Given the description of an element on the screen output the (x, y) to click on. 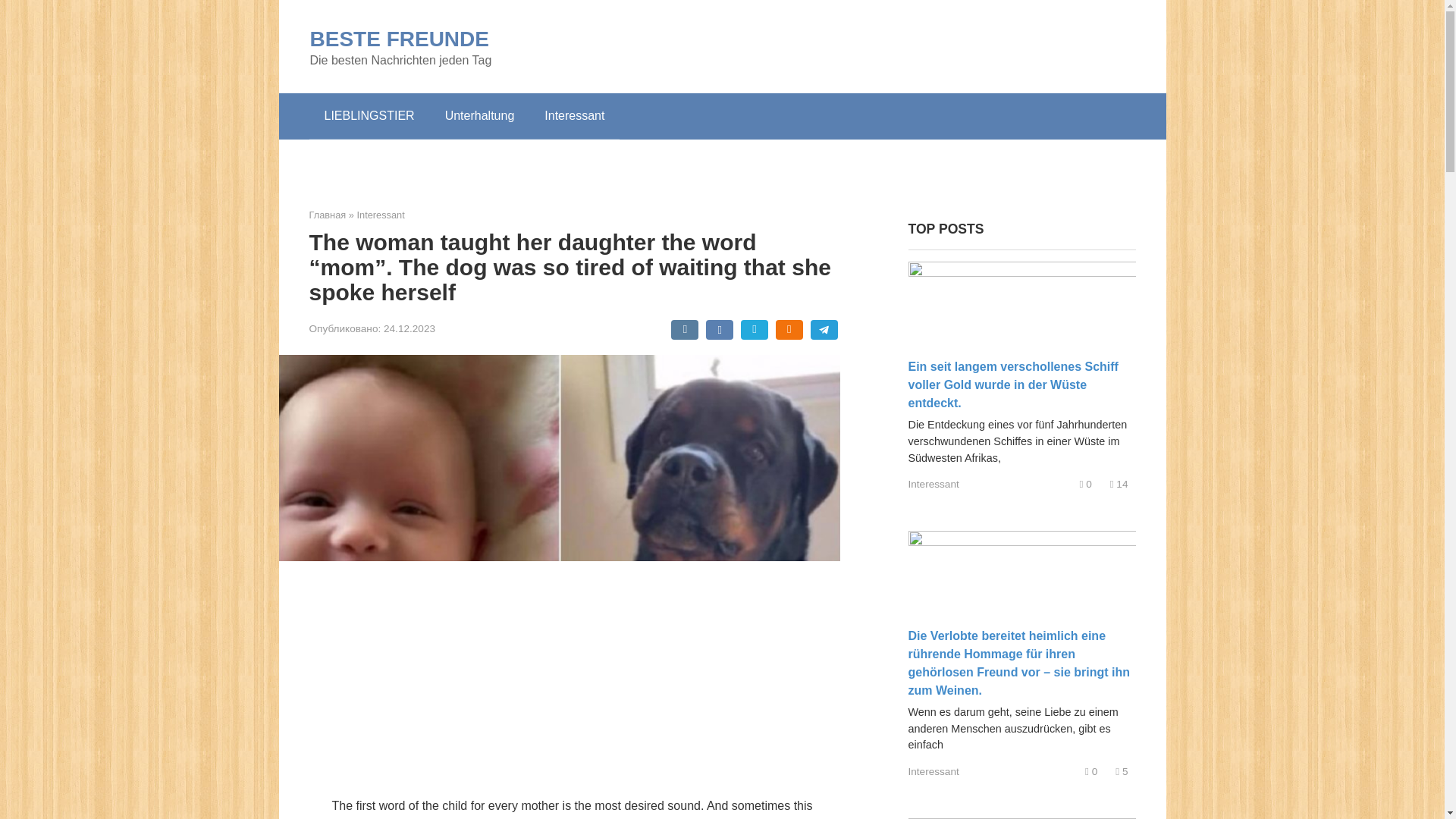
Interessant (380, 214)
Interessant (933, 483)
Unterhaltung (479, 115)
BESTE FREUNDE (397, 38)
Interessant (933, 771)
Interessant (574, 115)
LIEBLINGSTIER (368, 115)
